Given the description of an element on the screen output the (x, y) to click on. 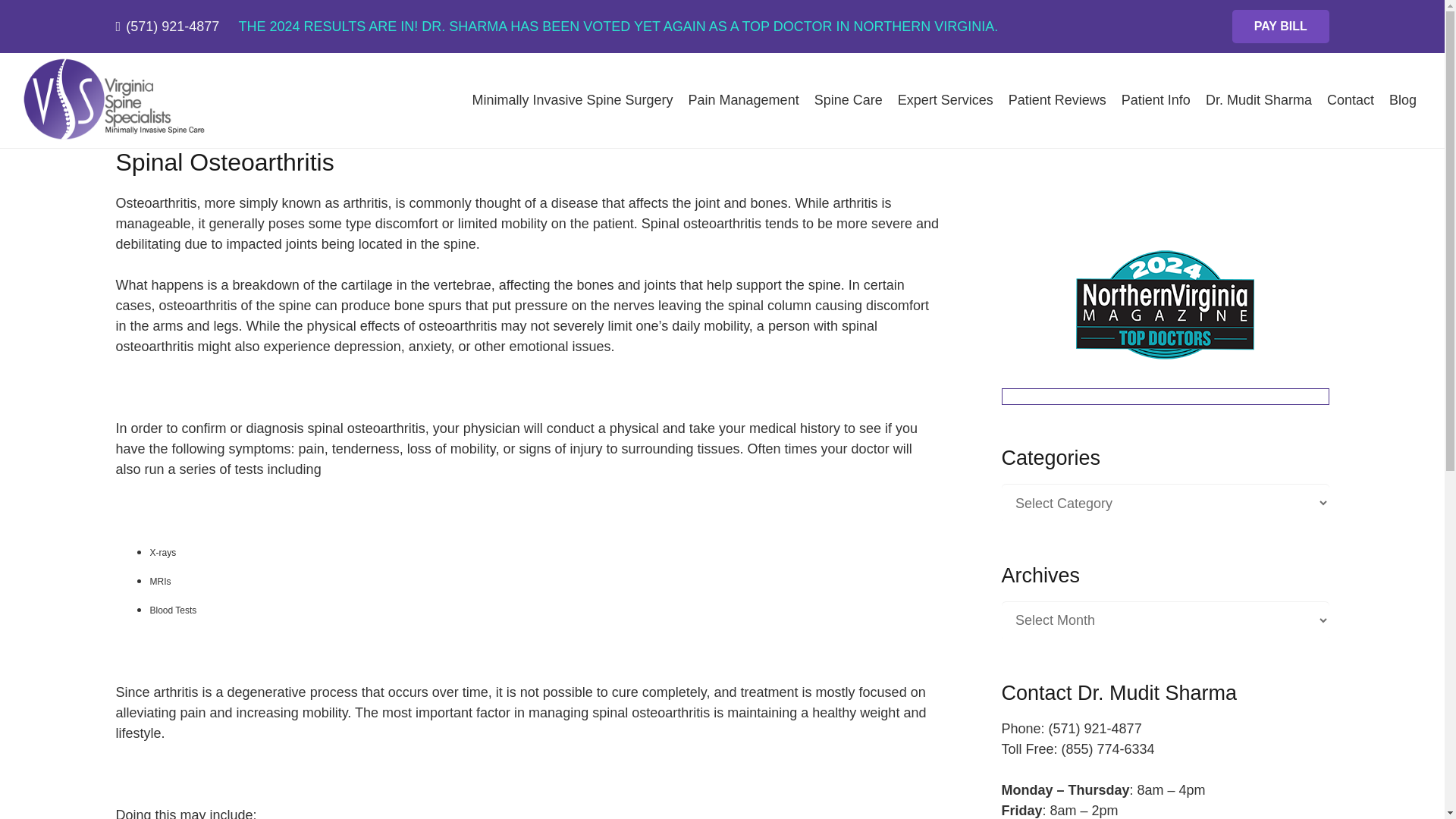
Patient Reviews (1057, 100)
PAY BILL (1280, 26)
Expert Services (945, 100)
Dr. Mudit Sharma (1258, 100)
Minimally Invasive Spine Surgery (571, 100)
Pain Management (743, 100)
